Given the description of an element on the screen output the (x, y) to click on. 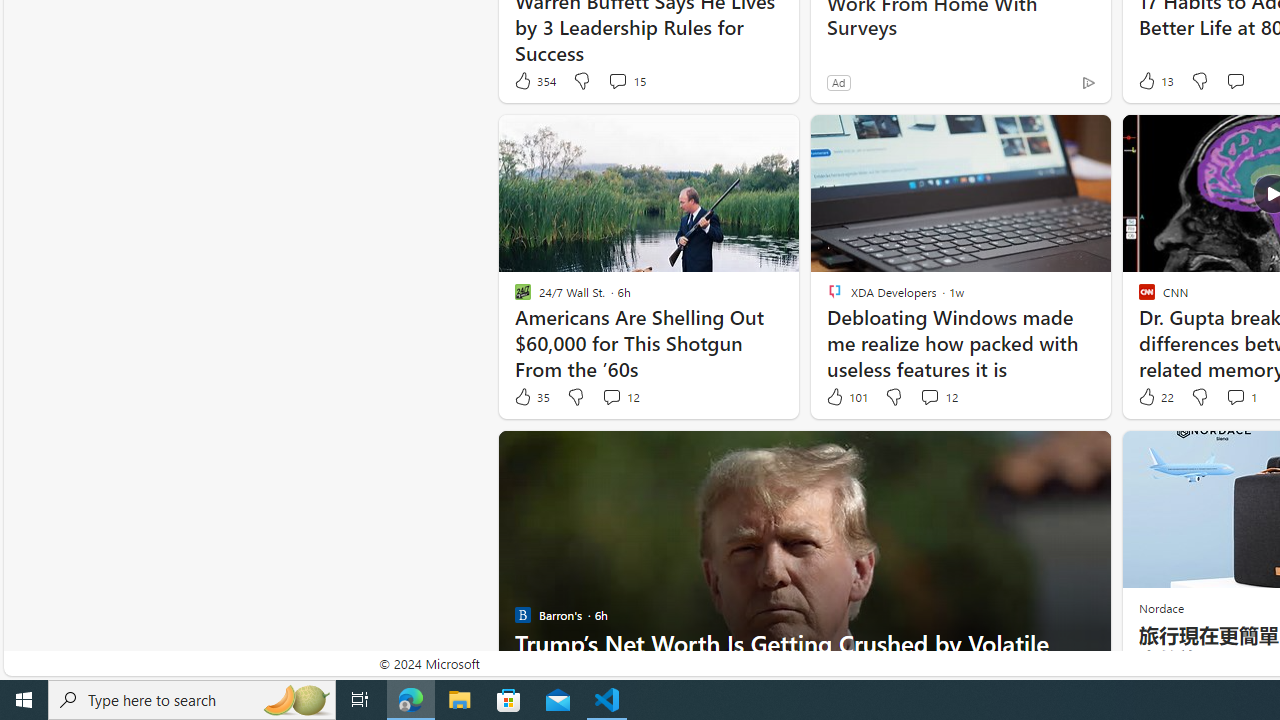
See more (1086, 454)
View comments 15 Comment (617, 80)
22 Like (1154, 397)
Nordace (1160, 607)
View comments 15 Comment (626, 80)
